Given the description of an element on the screen output the (x, y) to click on. 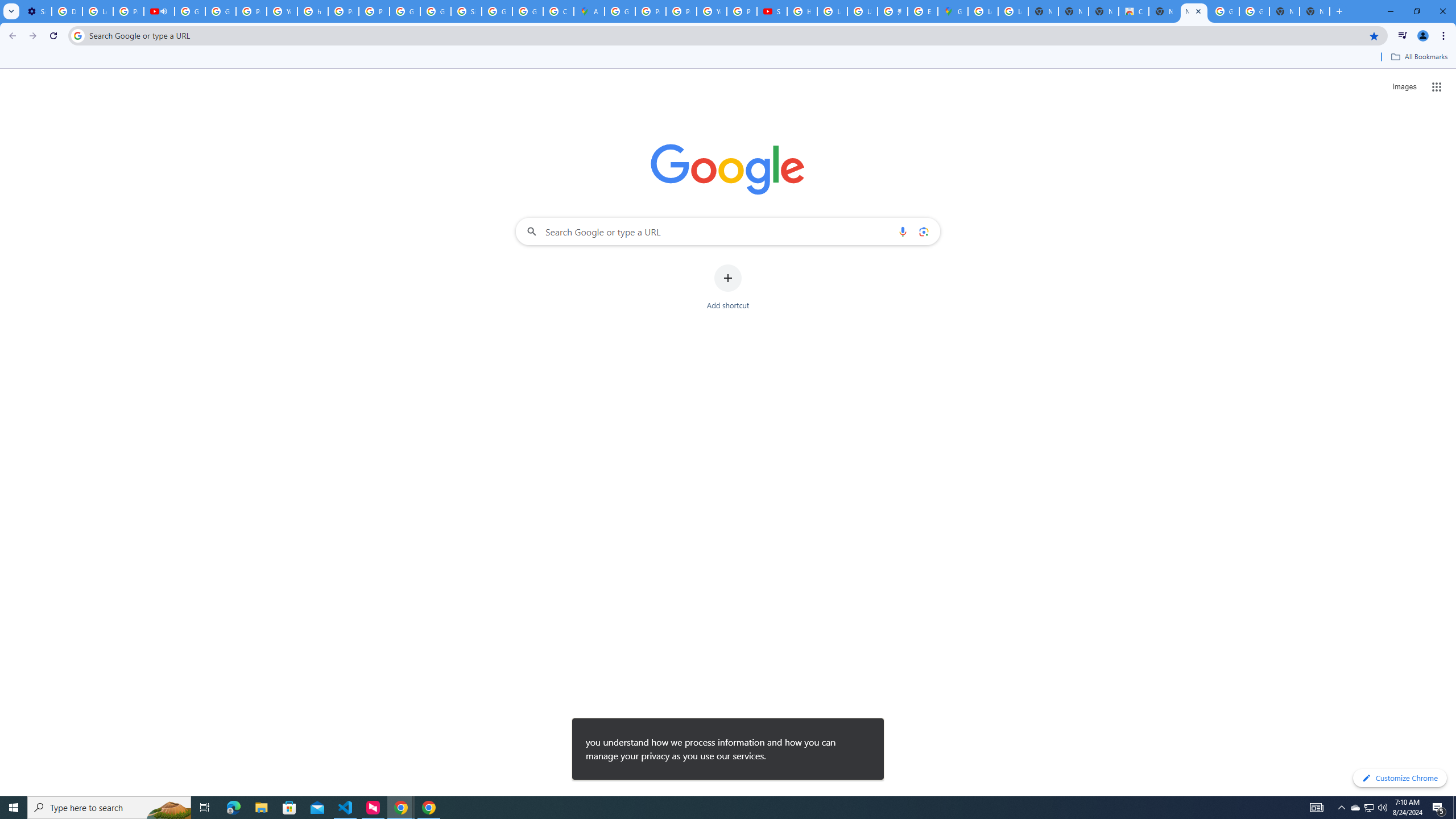
Add shortcut (727, 287)
Google Account Help (189, 11)
Google Maps (952, 11)
Chrome Web Store (1133, 11)
YouTube (282, 11)
